Given the description of an element on the screen output the (x, y) to click on. 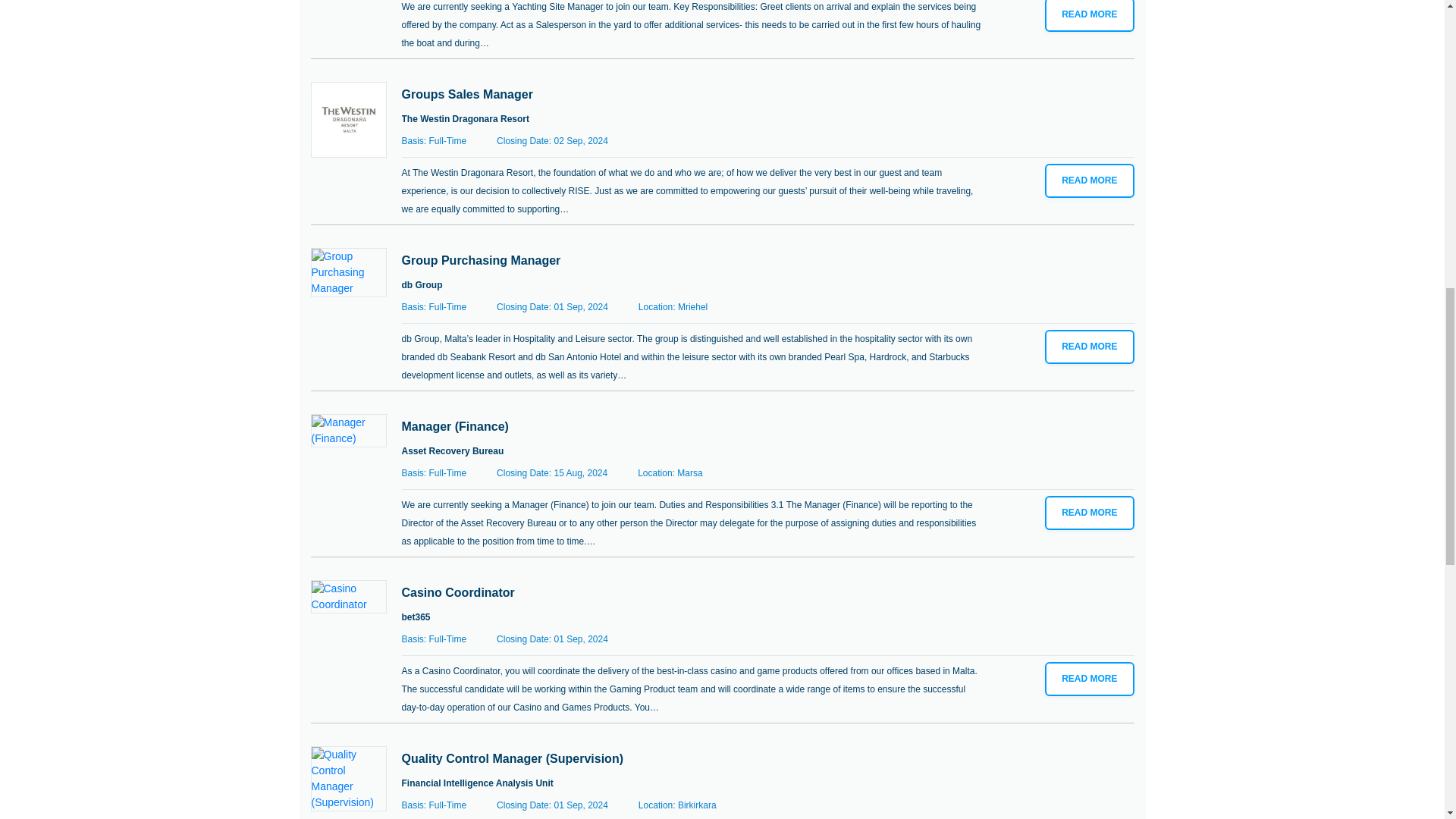
READ MORE (1089, 346)
READ MORE (1089, 15)
Group Purchasing Manager (480, 259)
The Westin Dragonara Resort (465, 118)
Groups Sales Manager (466, 93)
READ MORE (1089, 180)
db Group (421, 284)
